Given the description of an element on the screen output the (x, y) to click on. 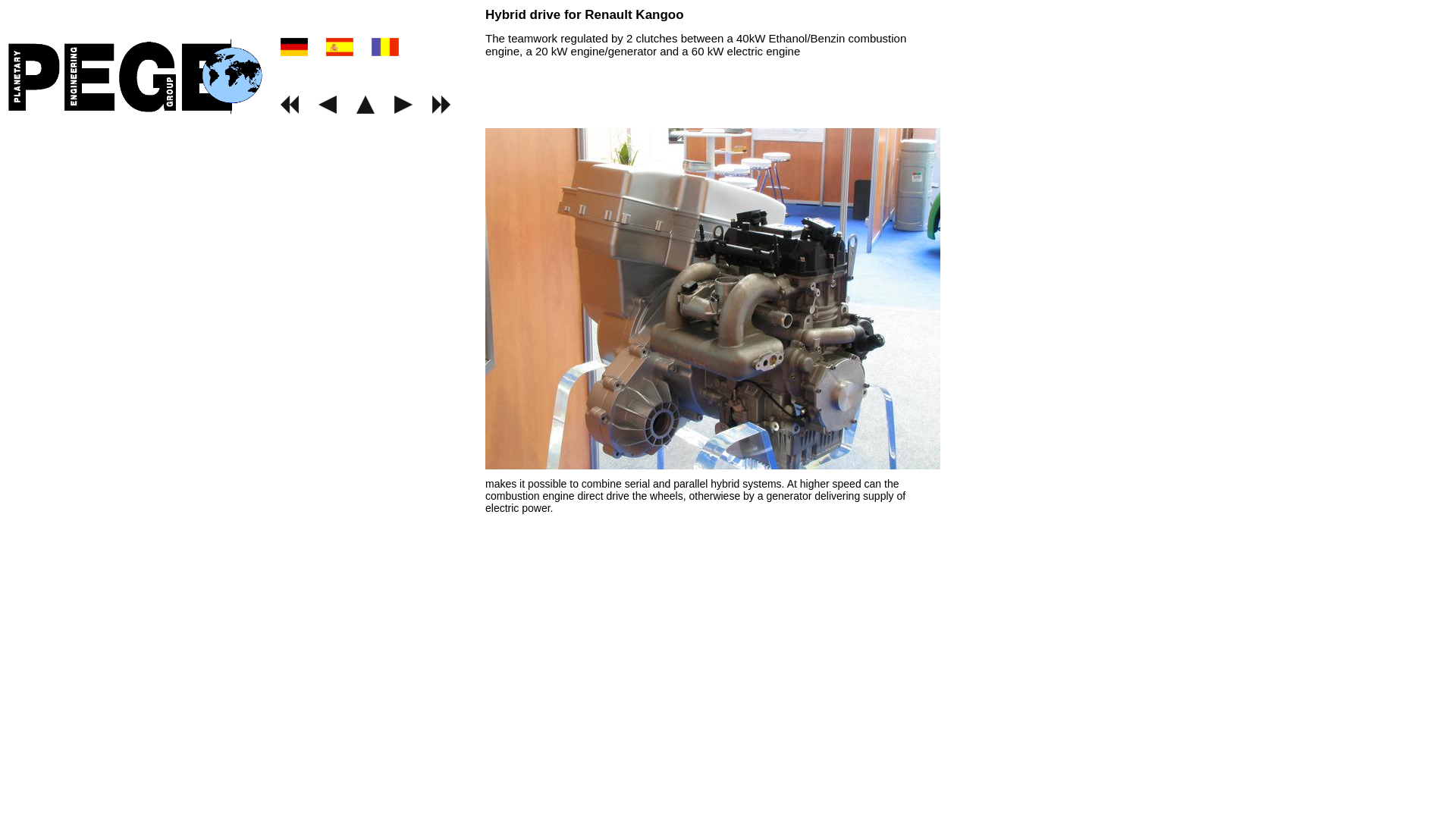
Spanish (460, 51)
German (475, 51)
Romanian (384, 51)
